Given the description of an element on the screen output the (x, y) to click on. 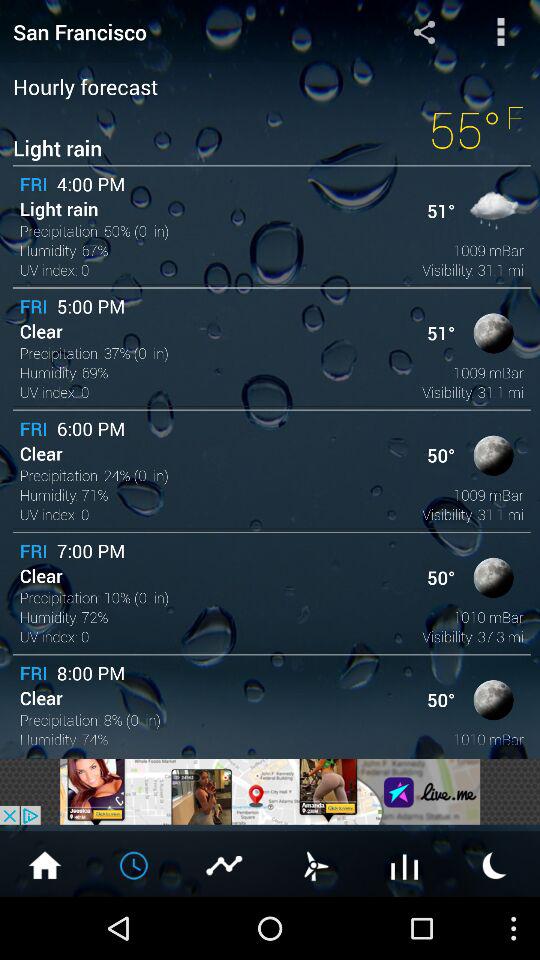
share forecast (424, 31)
